Given the description of an element on the screen output the (x, y) to click on. 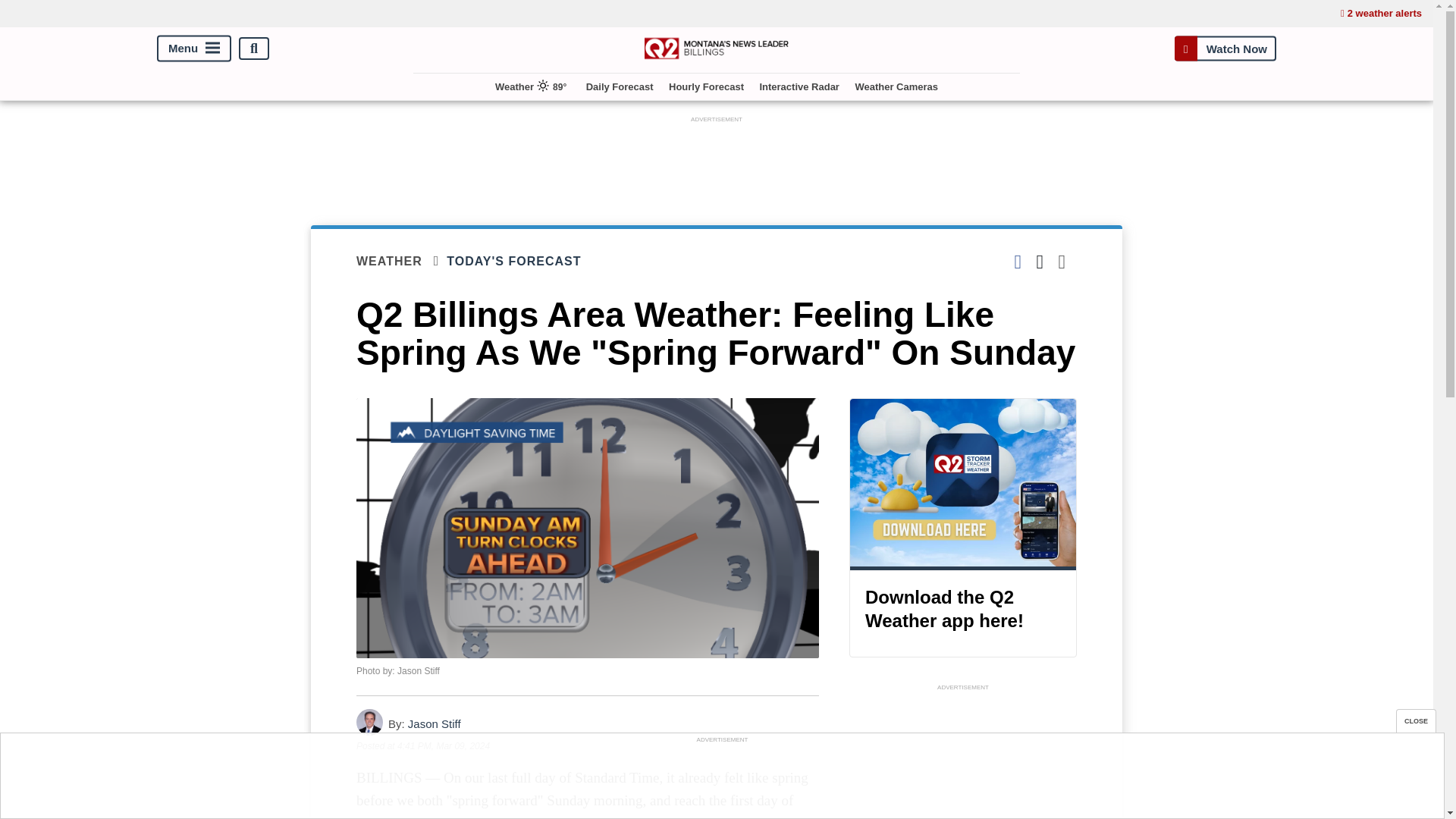
3rd party ad content (716, 160)
3rd party ad content (721, 780)
3rd party ad content (962, 756)
Menu (194, 49)
Watch Now (1224, 48)
